Given the description of an element on the screen output the (x, y) to click on. 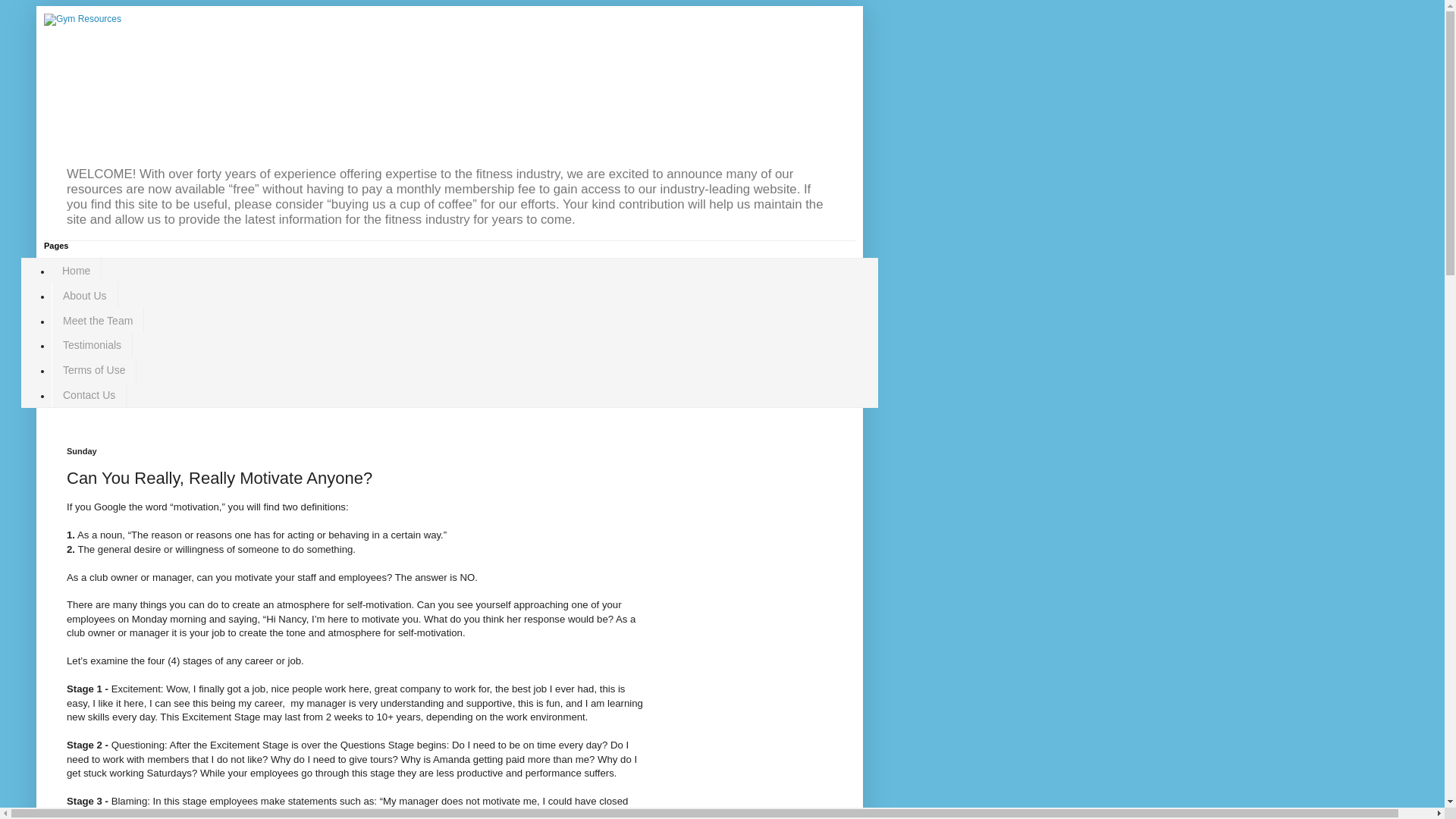
About Us (83, 294)
Terms of Use (93, 370)
Meet the Team (97, 319)
Testimonials (91, 344)
Home (75, 270)
Contact Us (88, 394)
